Given the description of an element on the screen output the (x, y) to click on. 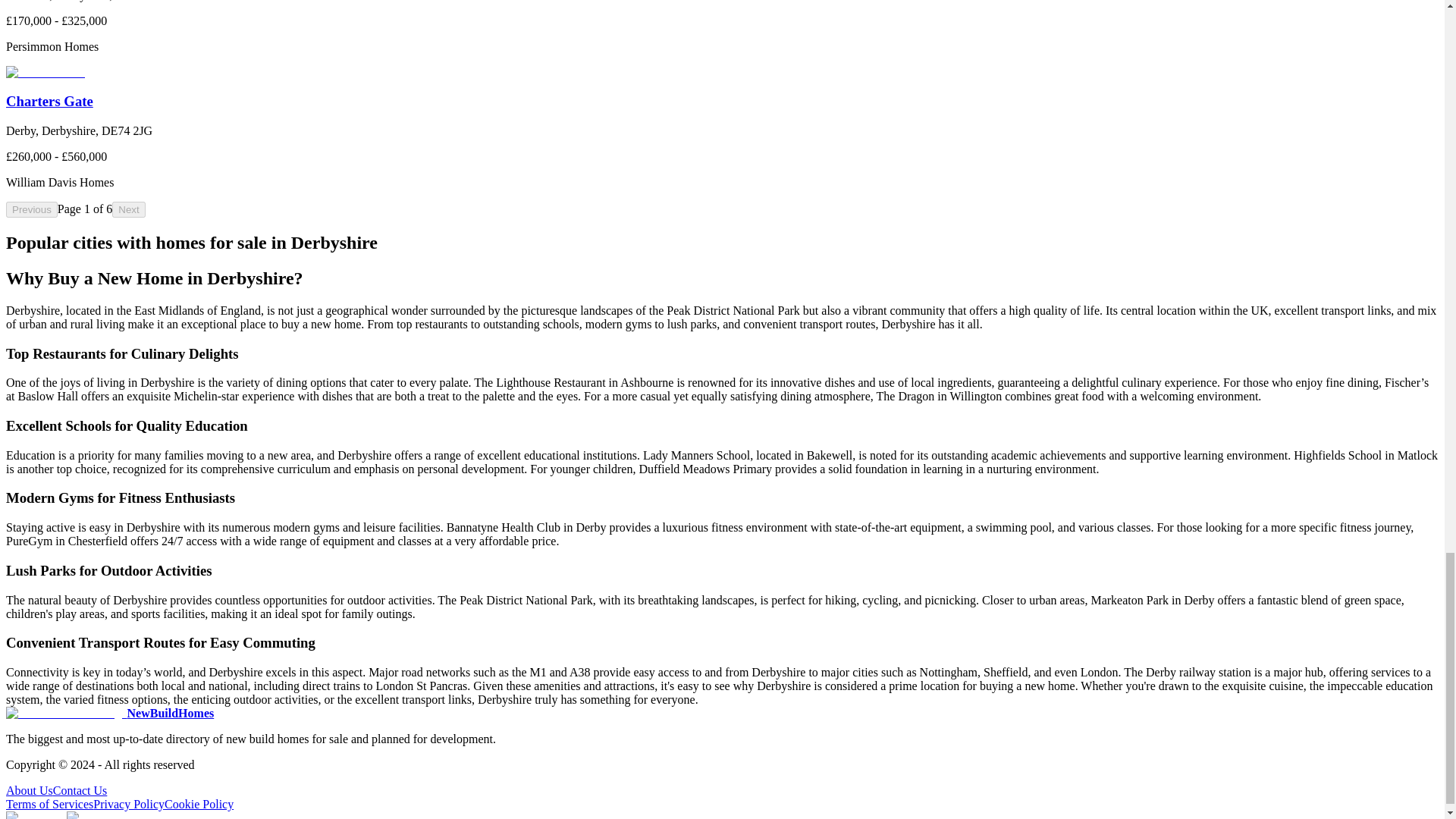
Previous (31, 209)
